Given the description of an element on the screen output the (x, y) to click on. 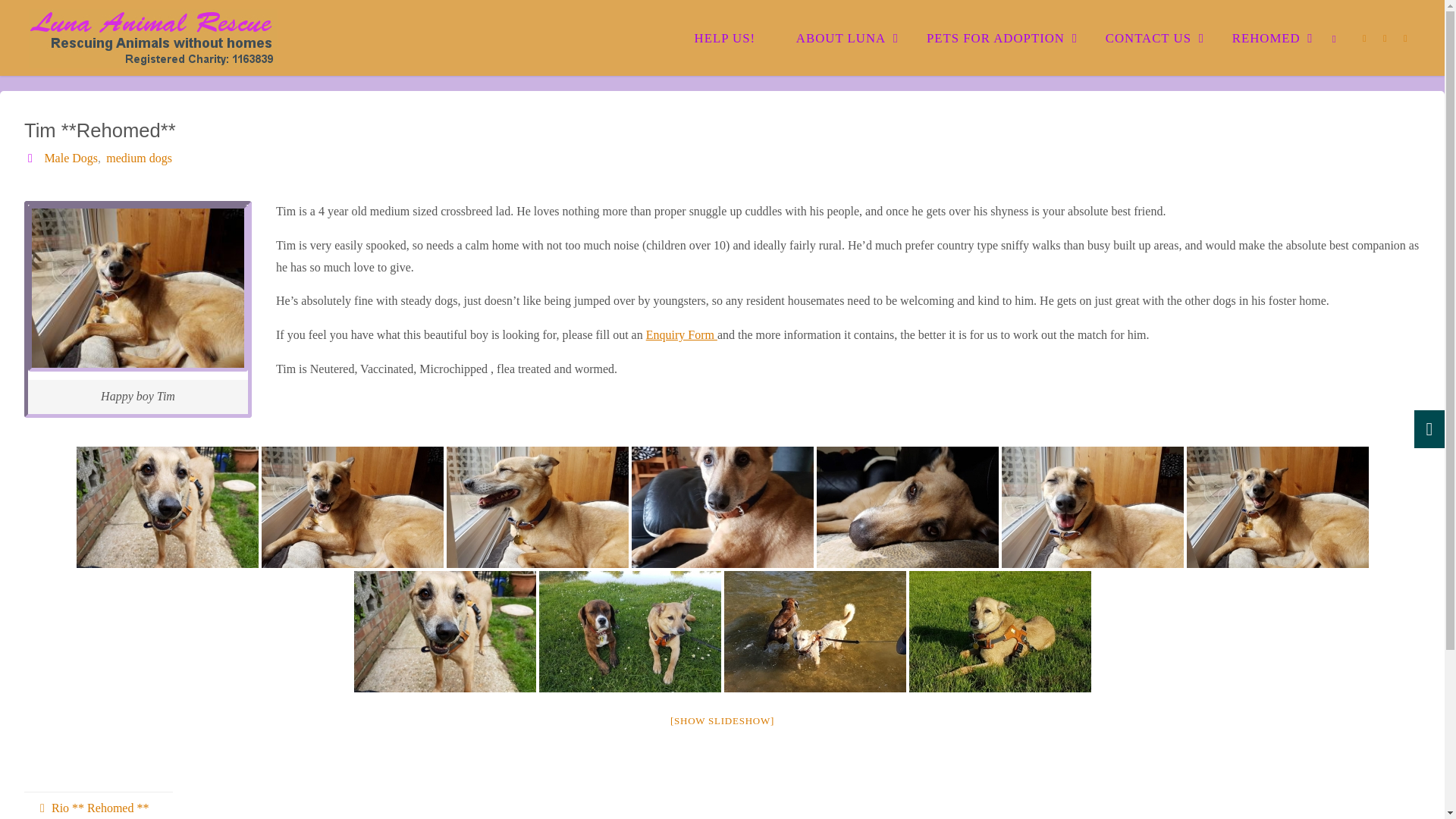
Tagged (31, 157)
Tim-Profile (166, 506)
Tim-3-1 (906, 506)
tim-6 (536, 506)
Tim-smiling (351, 506)
Tim-5 (721, 506)
